Given the description of an element on the screen output the (x, y) to click on. 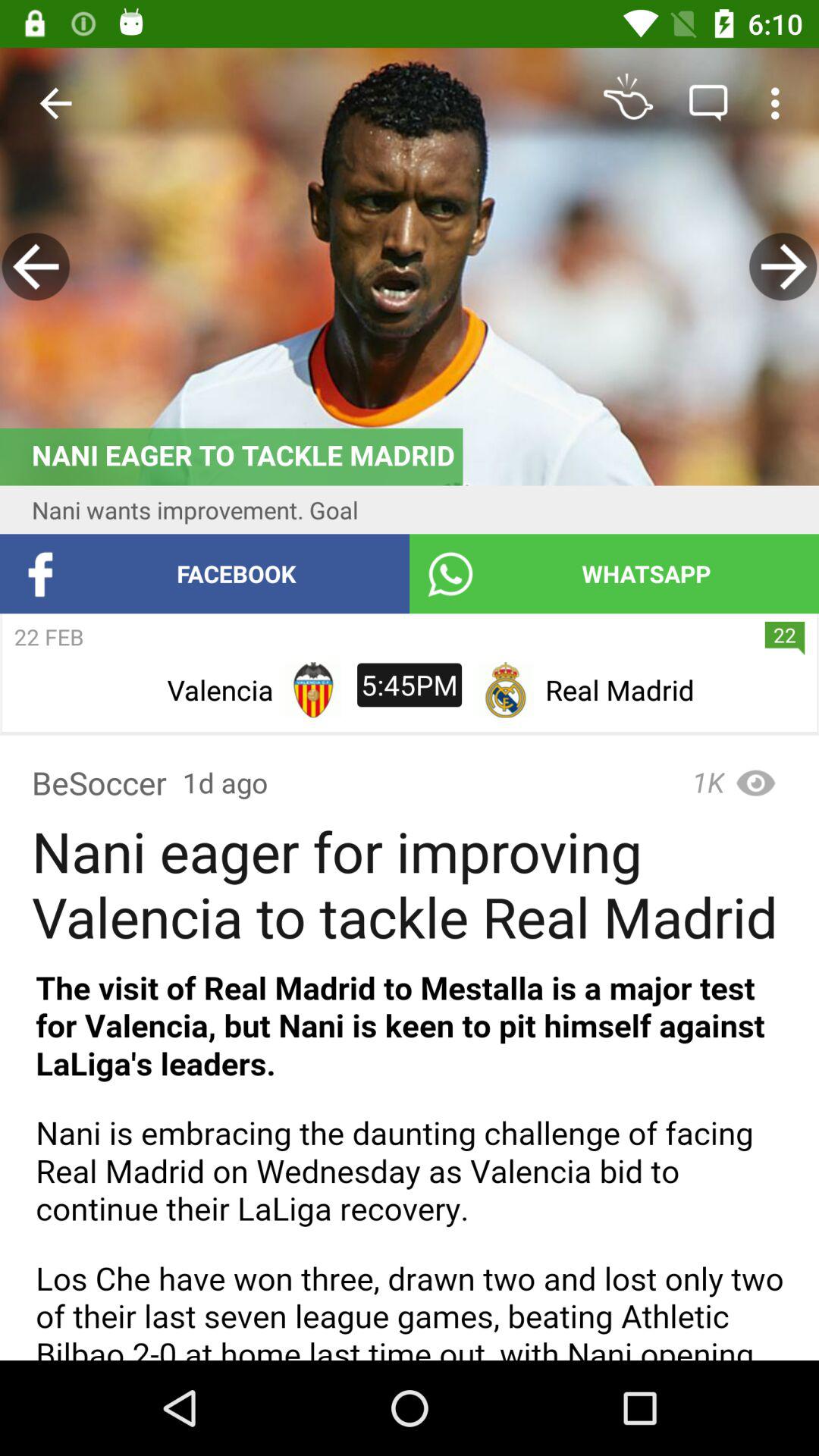
go back (35, 266)
